Given the description of an element on the screen output the (x, y) to click on. 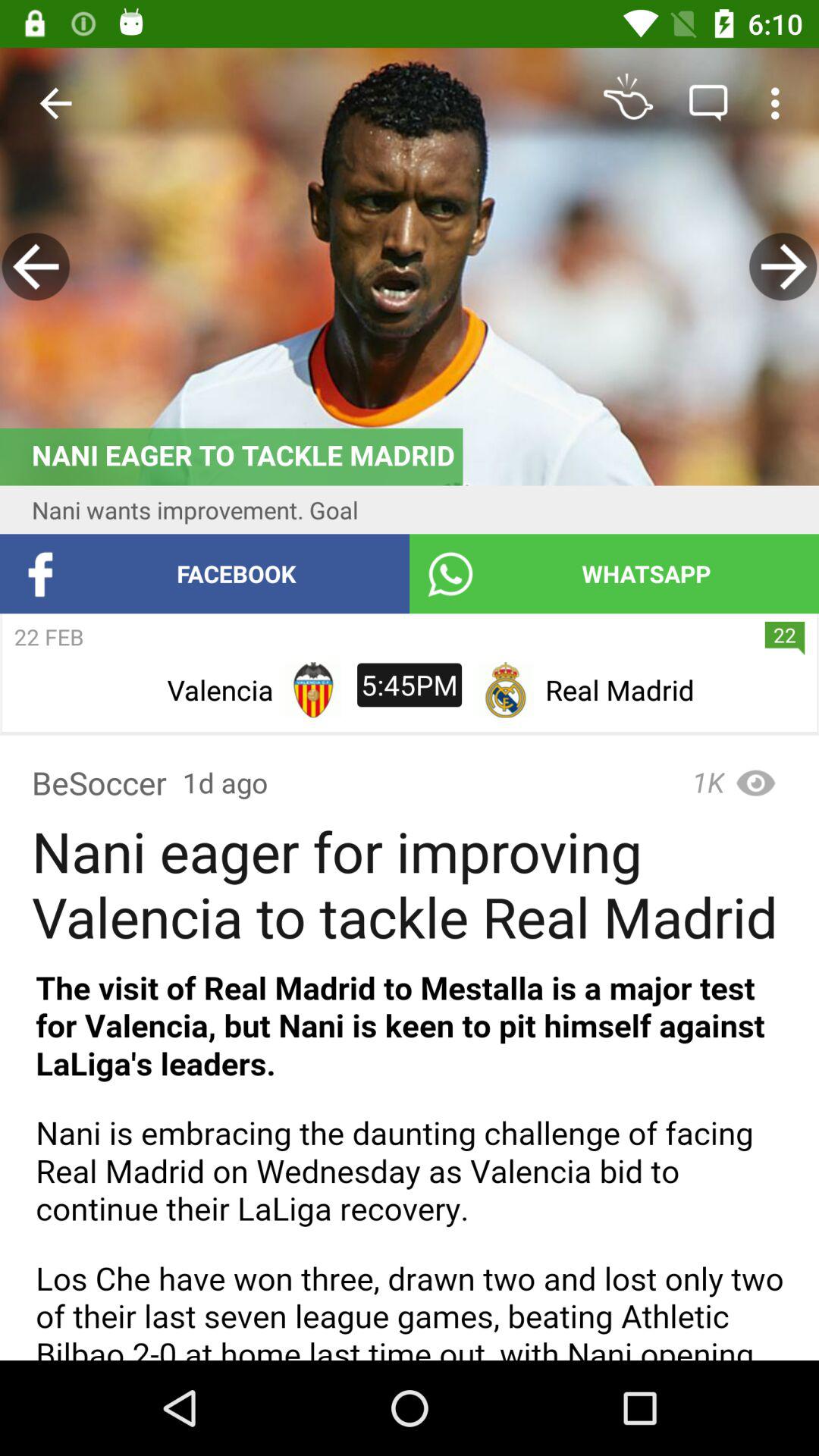
go back (35, 266)
